Given the description of an element on the screen output the (x, y) to click on. 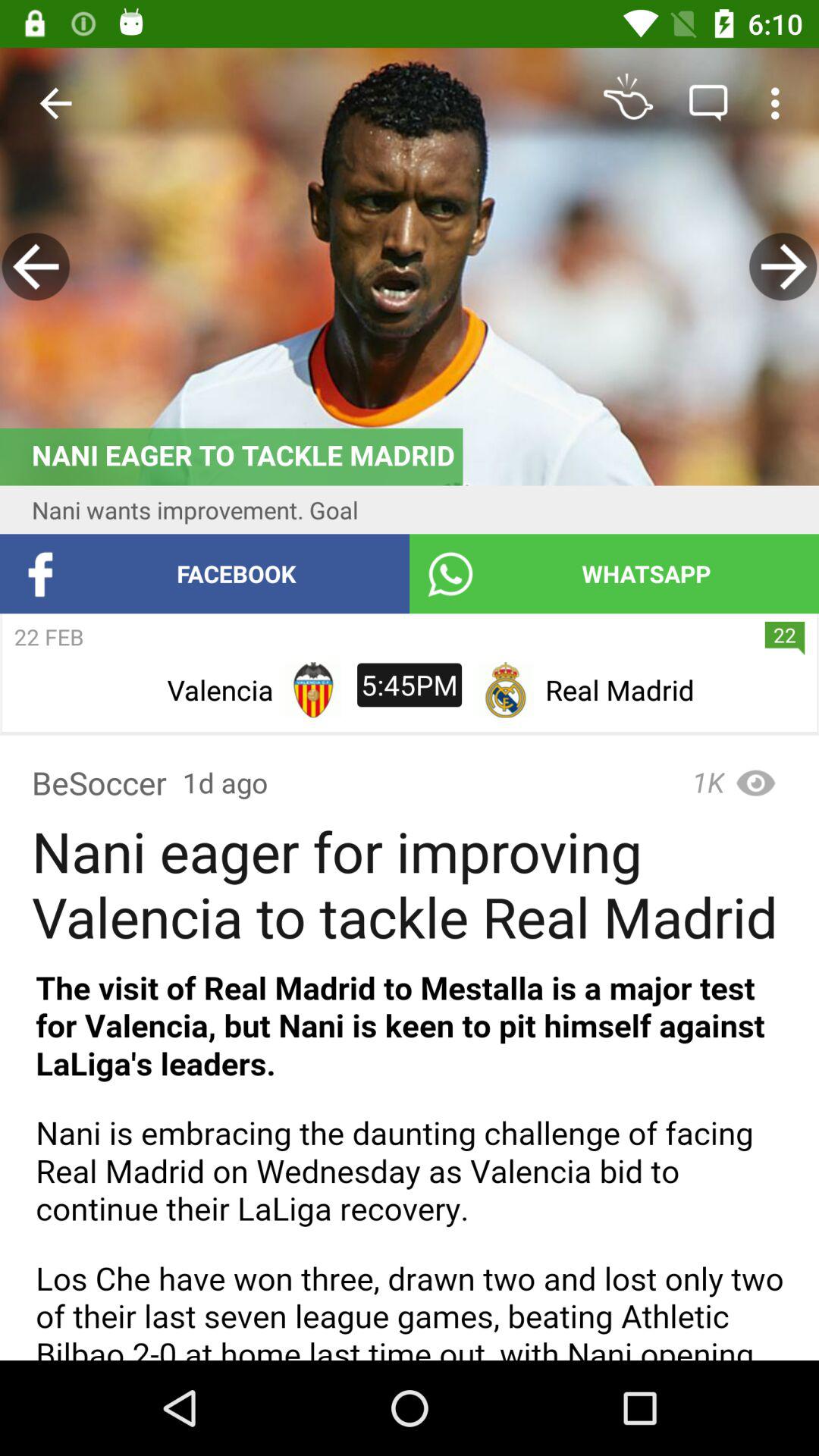
go back (35, 266)
